Given the description of an element on the screen output the (x, y) to click on. 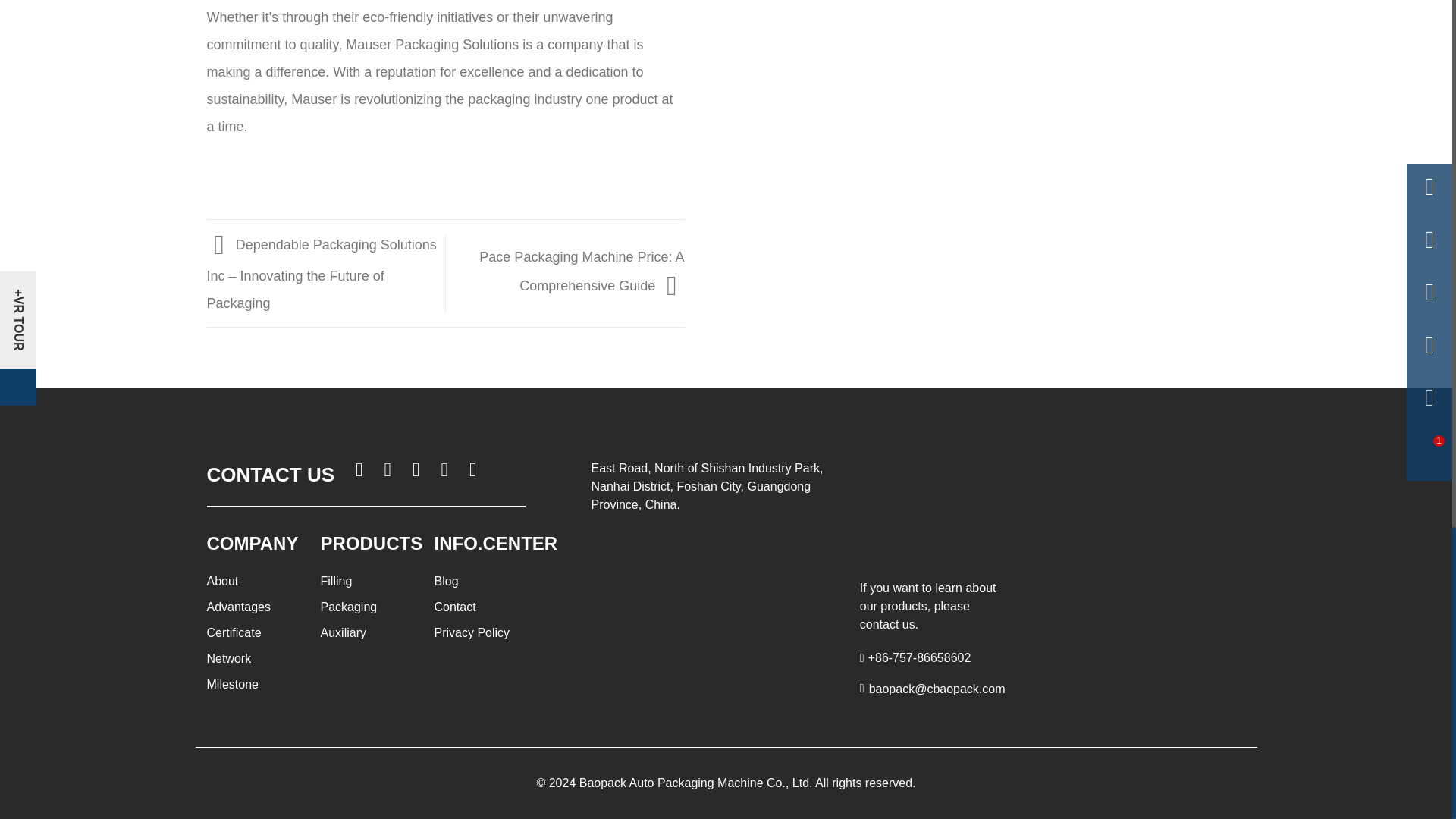
Contact (454, 606)
map (711, 579)
Network (228, 658)
Certificate (233, 632)
Auxiliary (342, 632)
Blog (445, 581)
Filling (336, 581)
Packaging (348, 606)
About (222, 581)
Pace Packaging Machine Price: A Comprehensive Guide (581, 271)
Milestone (231, 684)
Advantages (238, 606)
Privacy Policy (471, 632)
